Given the description of an element on the screen output the (x, y) to click on. 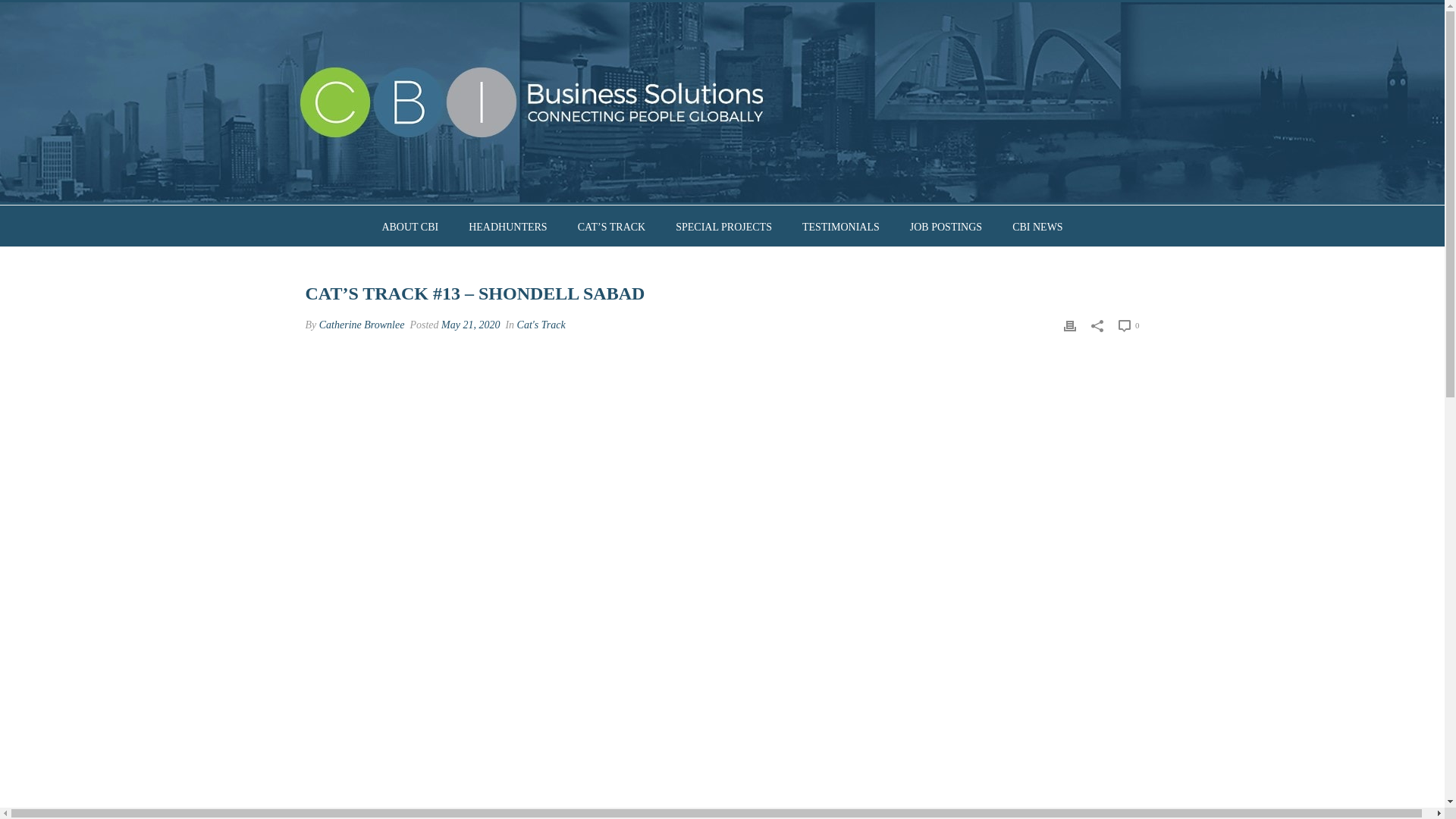
May 21, 2020 (470, 324)
TESTIMONIALS (841, 225)
Catherine Brownlee (361, 324)
TESTIMONIALS (841, 225)
Posts by Catherine Brownlee (361, 324)
CBI NEWS (1037, 225)
HEADHUNTERS (507, 225)
SPECIAL PROJECTS (724, 225)
0 (1128, 325)
SPECIAL PROJECTS (724, 225)
Cat's Track (541, 324)
HEADHUNTERS (507, 225)
ABOUT CBI (409, 225)
JOB POSTINGS (946, 225)
CBI NEWS (1037, 225)
